Given the description of an element on the screen output the (x, y) to click on. 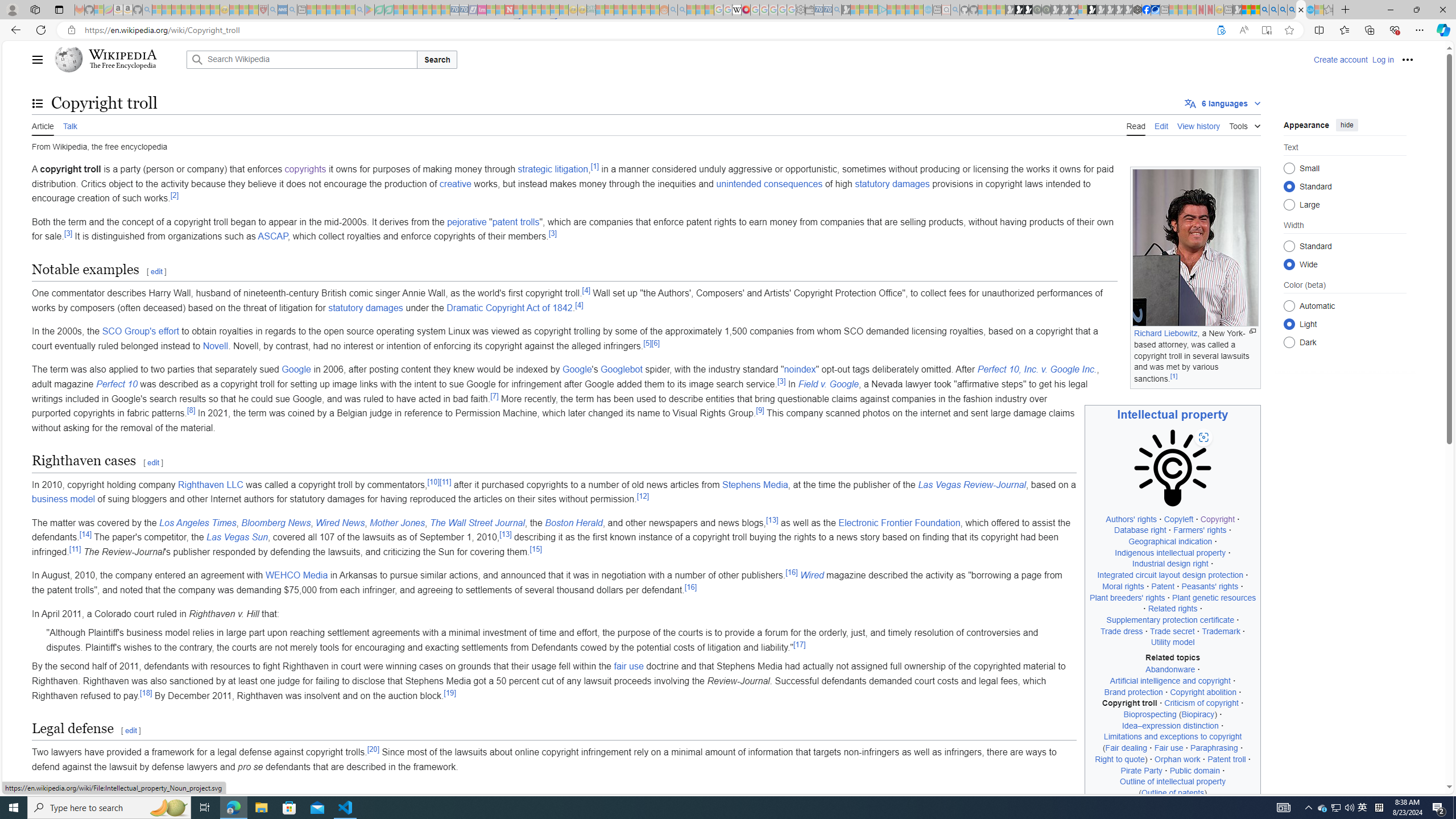
Pirate Party (1142, 770)
Intellectual property (1172, 413)
Edit (1161, 124)
Light (1289, 323)
edit (130, 730)
Perfect 10, Inc. v. Google Inc. (1036, 369)
Automatic (1289, 305)
